Given the description of an element on the screen output the (x, y) to click on. 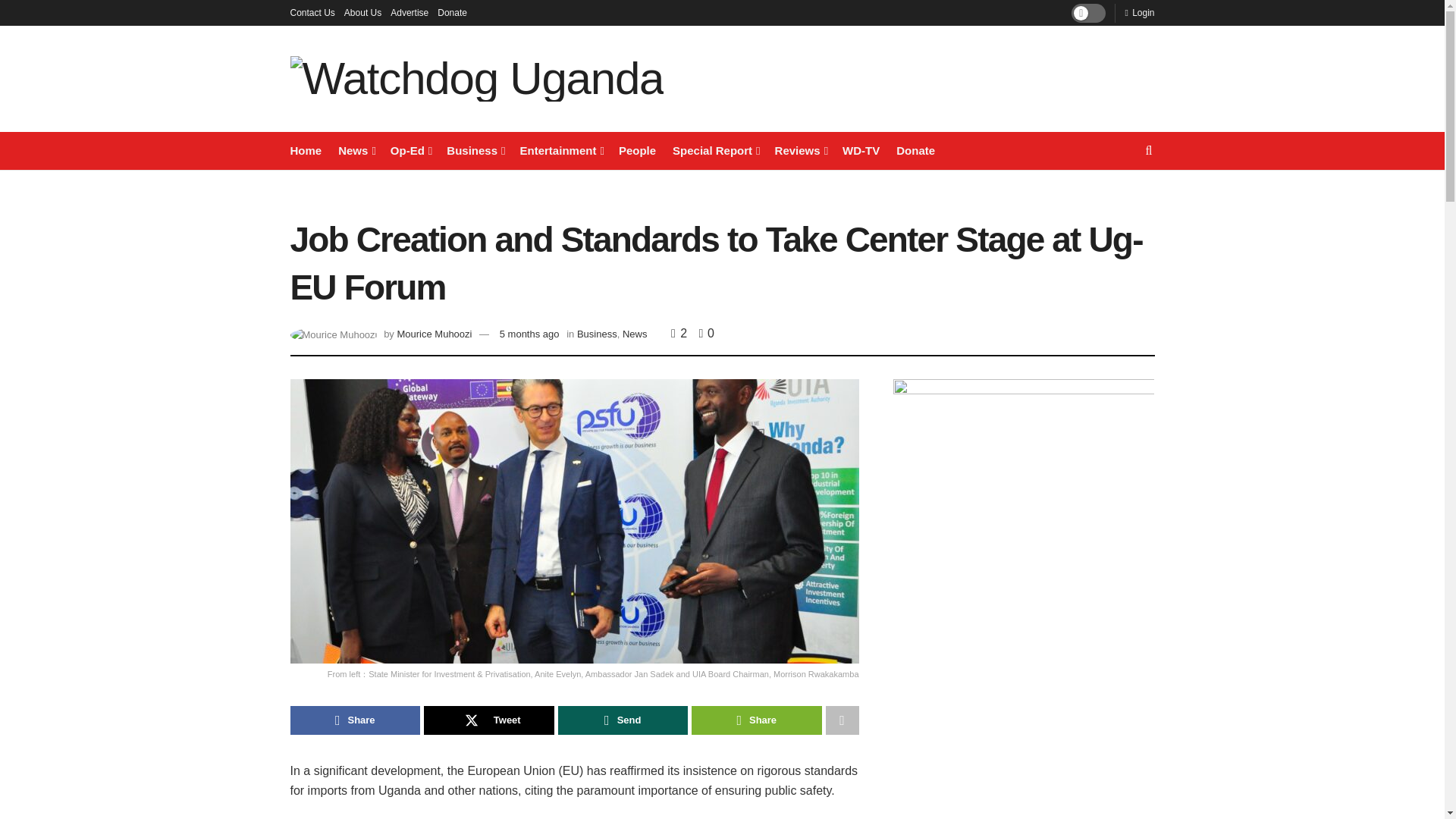
Entertainment (560, 150)
News (355, 150)
Special Report (715, 150)
Donate (452, 12)
Business (474, 150)
Advertise (409, 12)
Op-Ed (409, 150)
About Us (362, 12)
Contact Us (311, 12)
People (637, 150)
Home (305, 150)
Login (1139, 12)
